Given the description of an element on the screen output the (x, y) to click on. 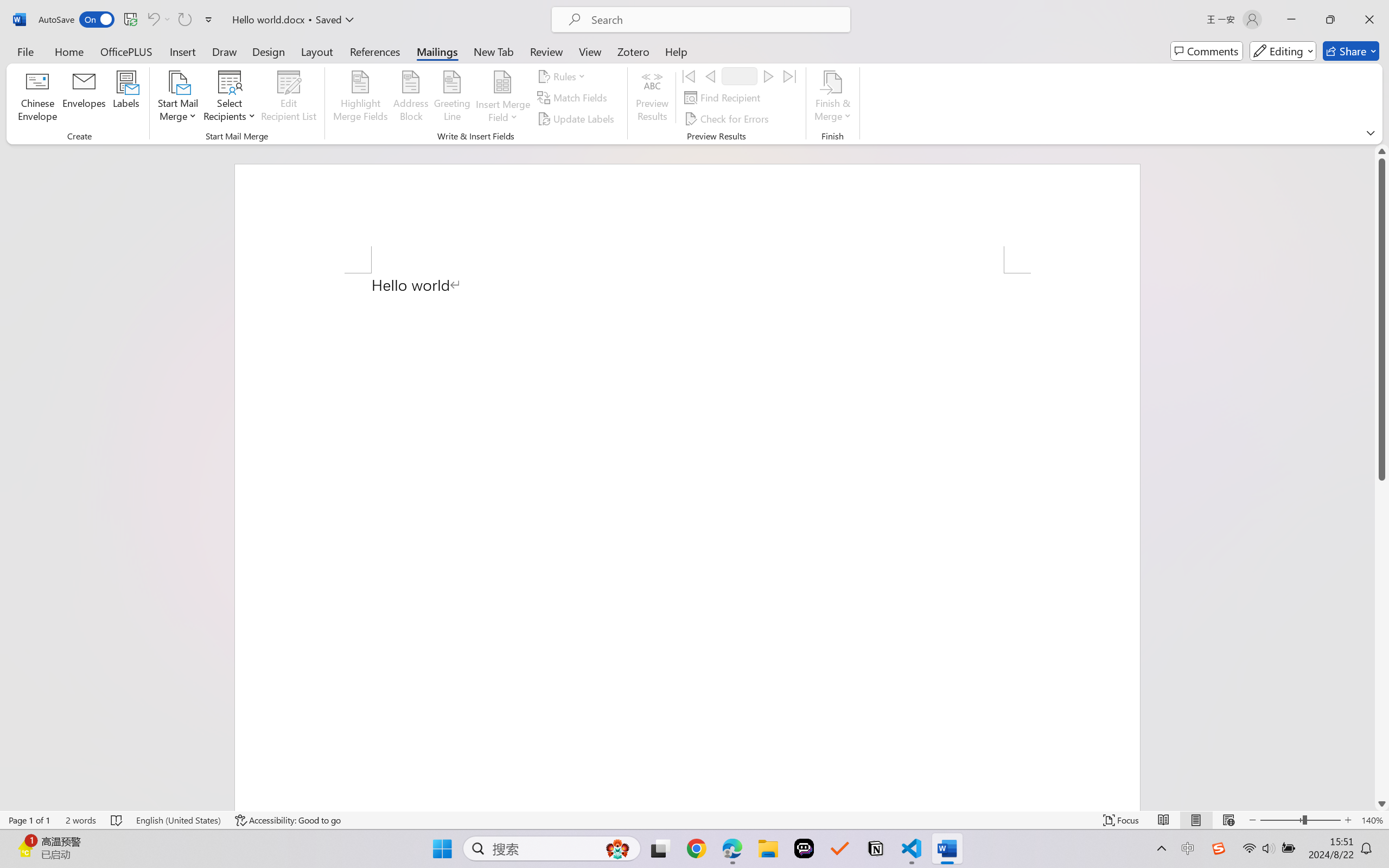
AutoSave (76, 19)
Can't Repeat (184, 19)
Review (546, 51)
Help (675, 51)
Can't Undo (152, 19)
Find Recipient... (723, 97)
Page down (1382, 638)
Zoom 140% (1372, 819)
Finish & Merge (832, 97)
Can't Undo (158, 19)
Ribbon Display Options (1370, 132)
Restore Down (1330, 19)
Last (790, 75)
